Given the description of an element on the screen output the (x, y) to click on. 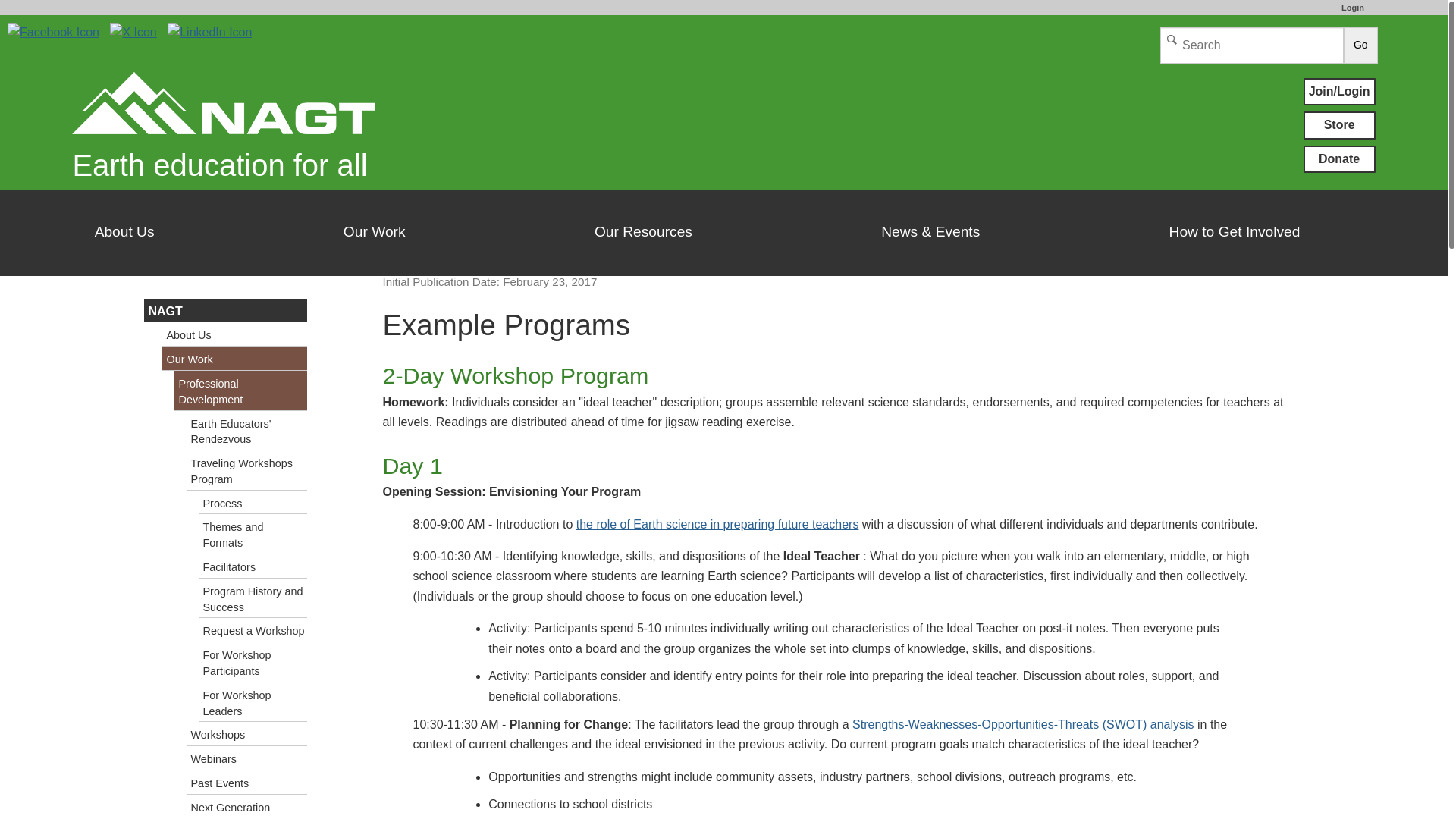
About Us (124, 232)
Our Work (373, 232)
Donate (1339, 158)
Store (1339, 124)
Go (1360, 45)
